Given the description of an element on the screen output the (x, y) to click on. 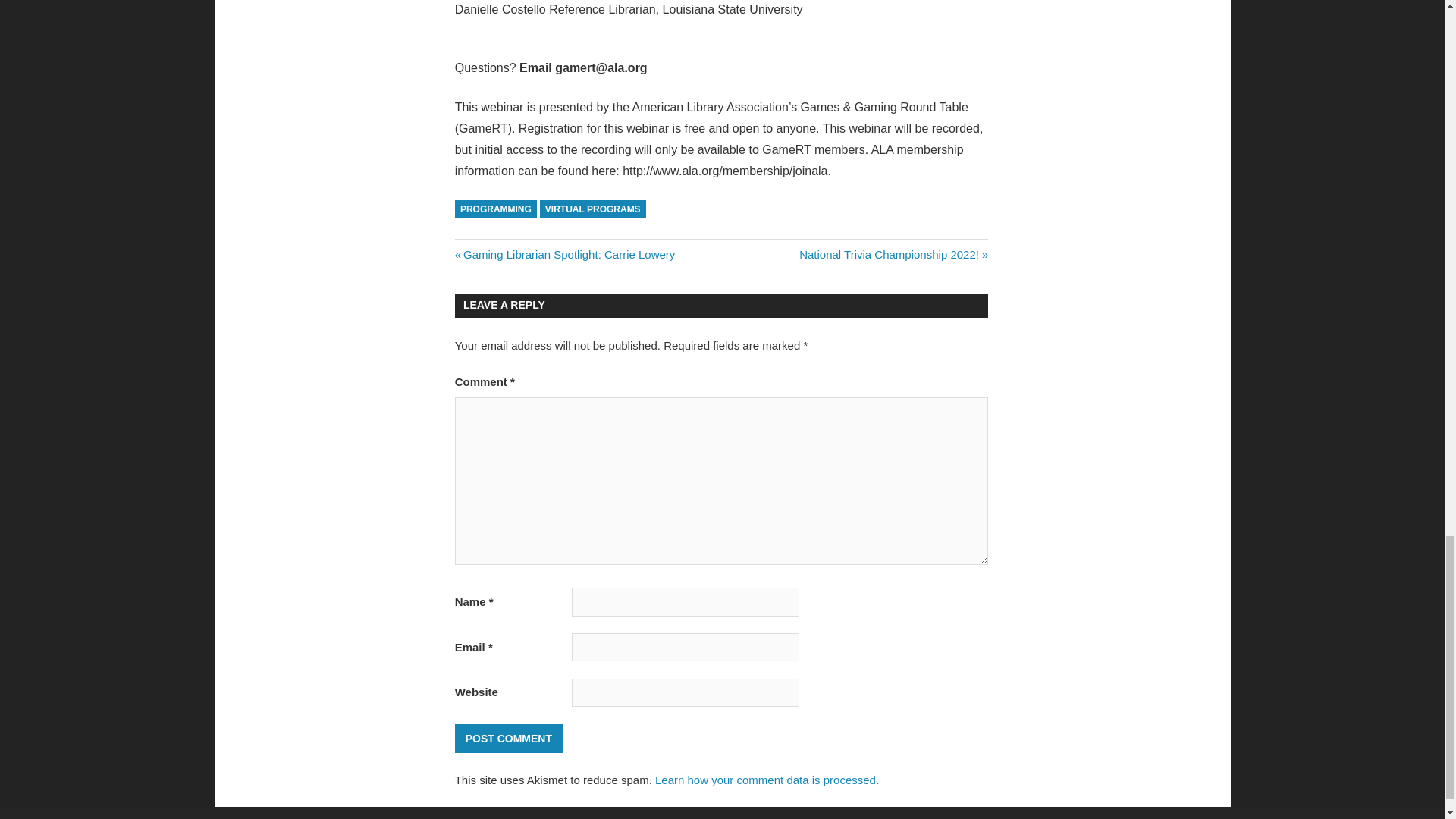
Post Comment (508, 738)
VIRTUAL PROGRAMS (893, 254)
Learn how your comment data is processed (564, 254)
Post Comment (593, 209)
PROGRAMMING (765, 779)
